Given the description of an element on the screen output the (x, y) to click on. 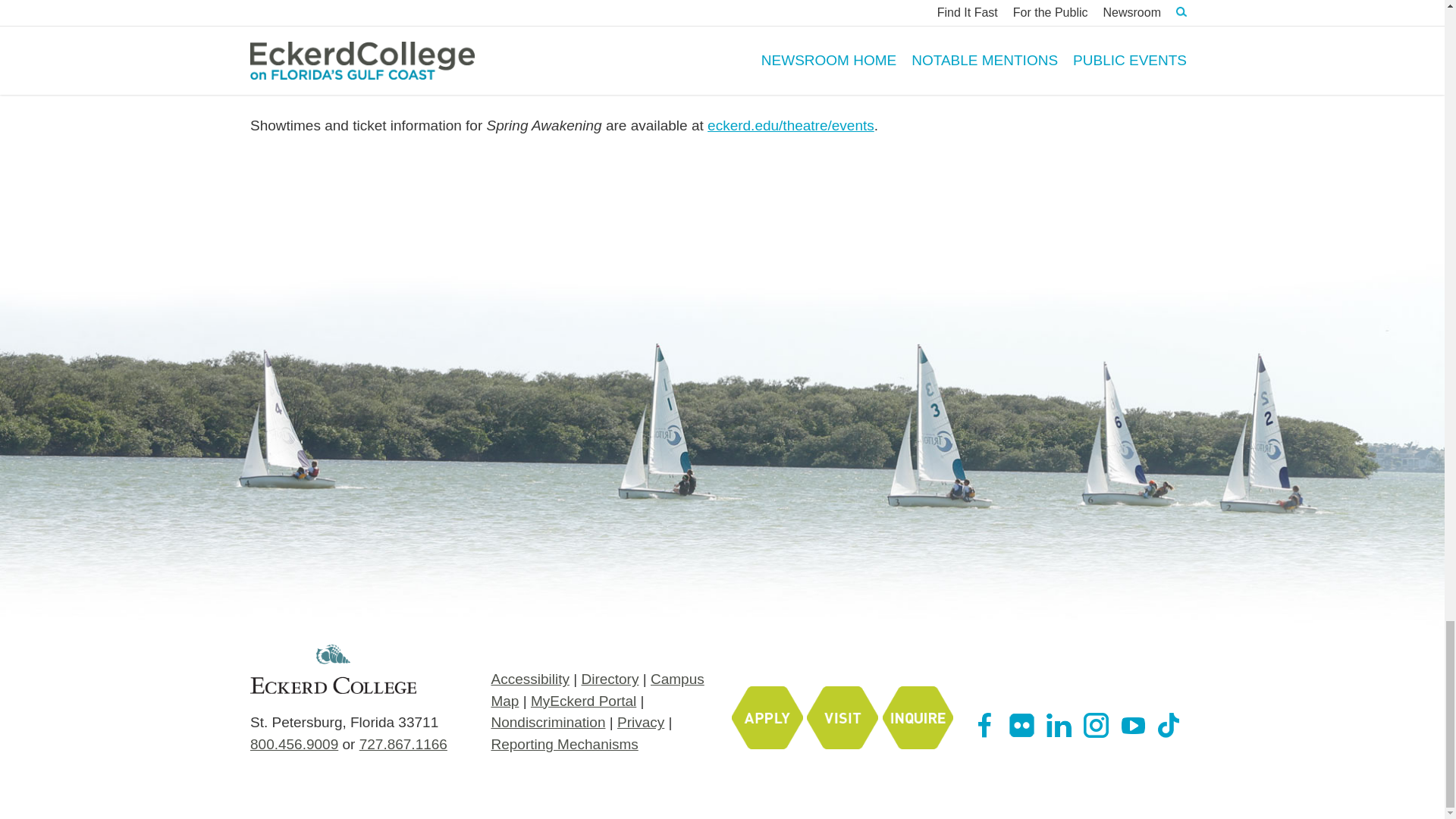
Campus Map (596, 689)
727.867.1166 (402, 744)
MyEckerd Portal (583, 700)
Accessibility (529, 678)
Directory (609, 678)
800.456.9009 (293, 744)
Nondiscrimination (547, 722)
Reporting Mechanisms (563, 744)
Privacy (640, 722)
